Given the description of an element on the screen output the (x, y) to click on. 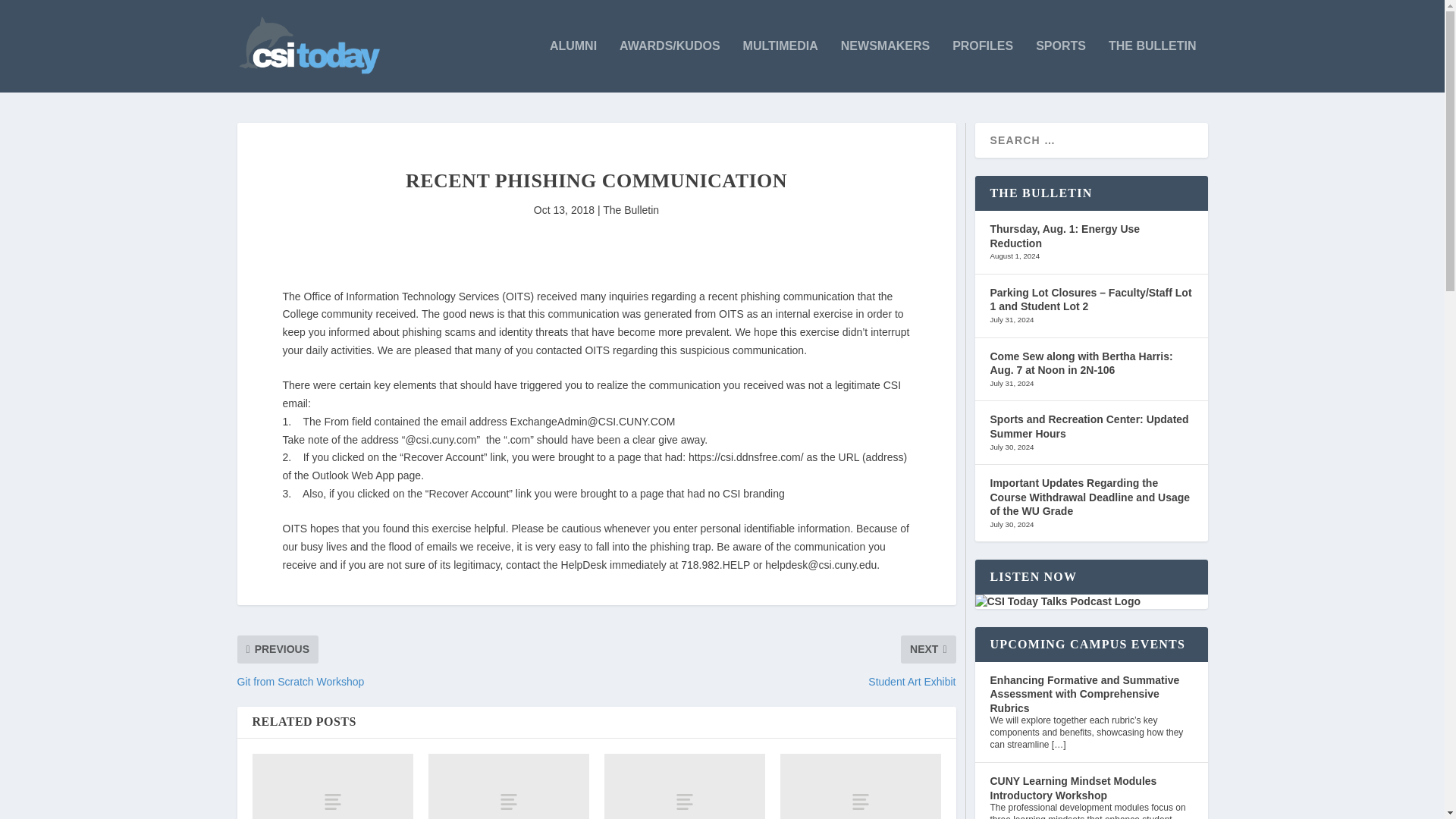
SPORTS (1060, 66)
ALUMNI (573, 66)
THE BULLETIN (1152, 66)
New ePermit System in CUNYfirst (859, 786)
Thursday, Aug. 1: Energy Use Reduction (1065, 235)
Search (31, 13)
The Bulletin (630, 209)
PROFILES (982, 66)
